Given the description of an element on the screen output the (x, y) to click on. 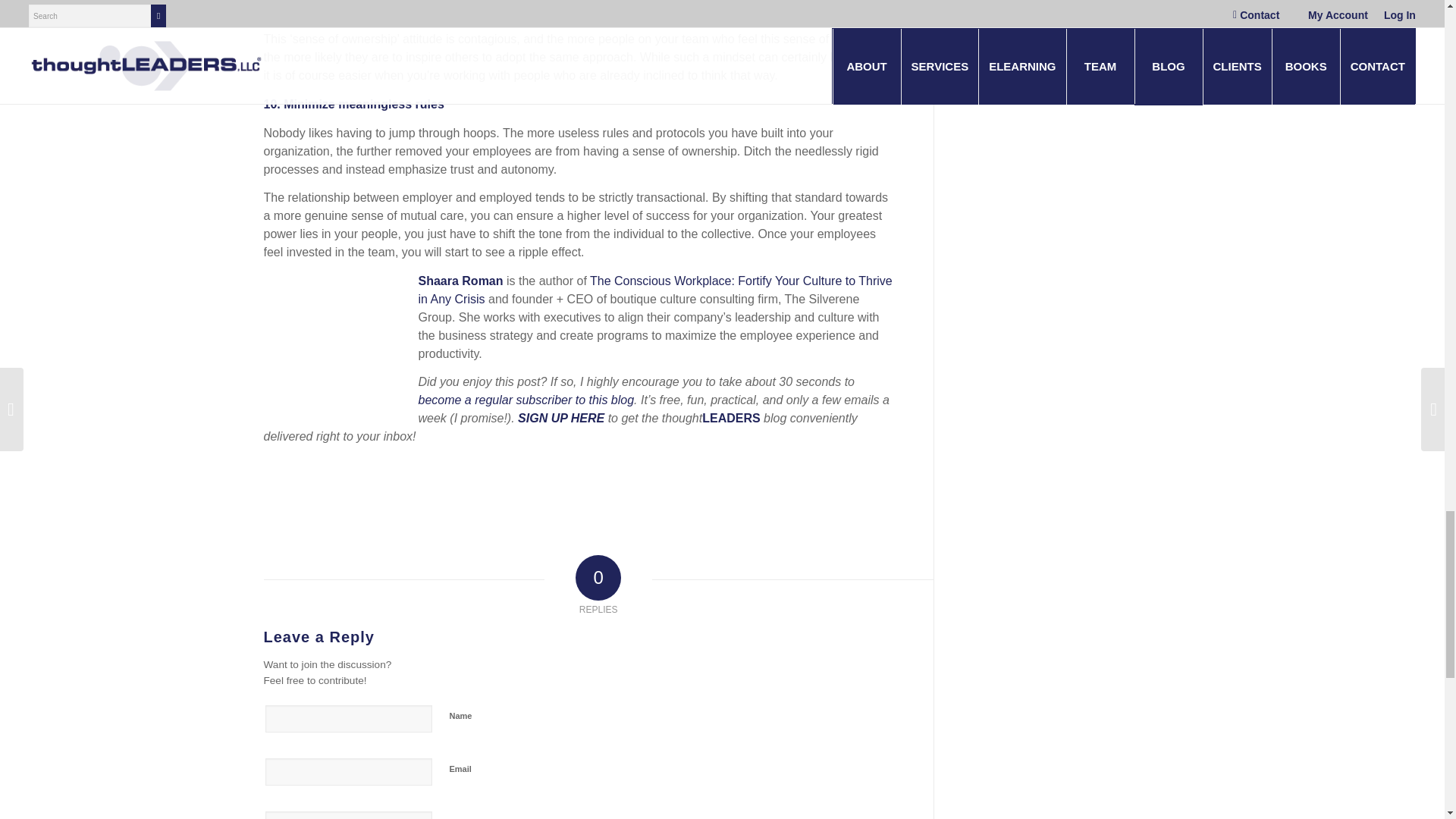
become a regular subscriber to this blog (526, 399)
SIGN UP HERE (561, 418)
